Given the description of an element on the screen output the (x, y) to click on. 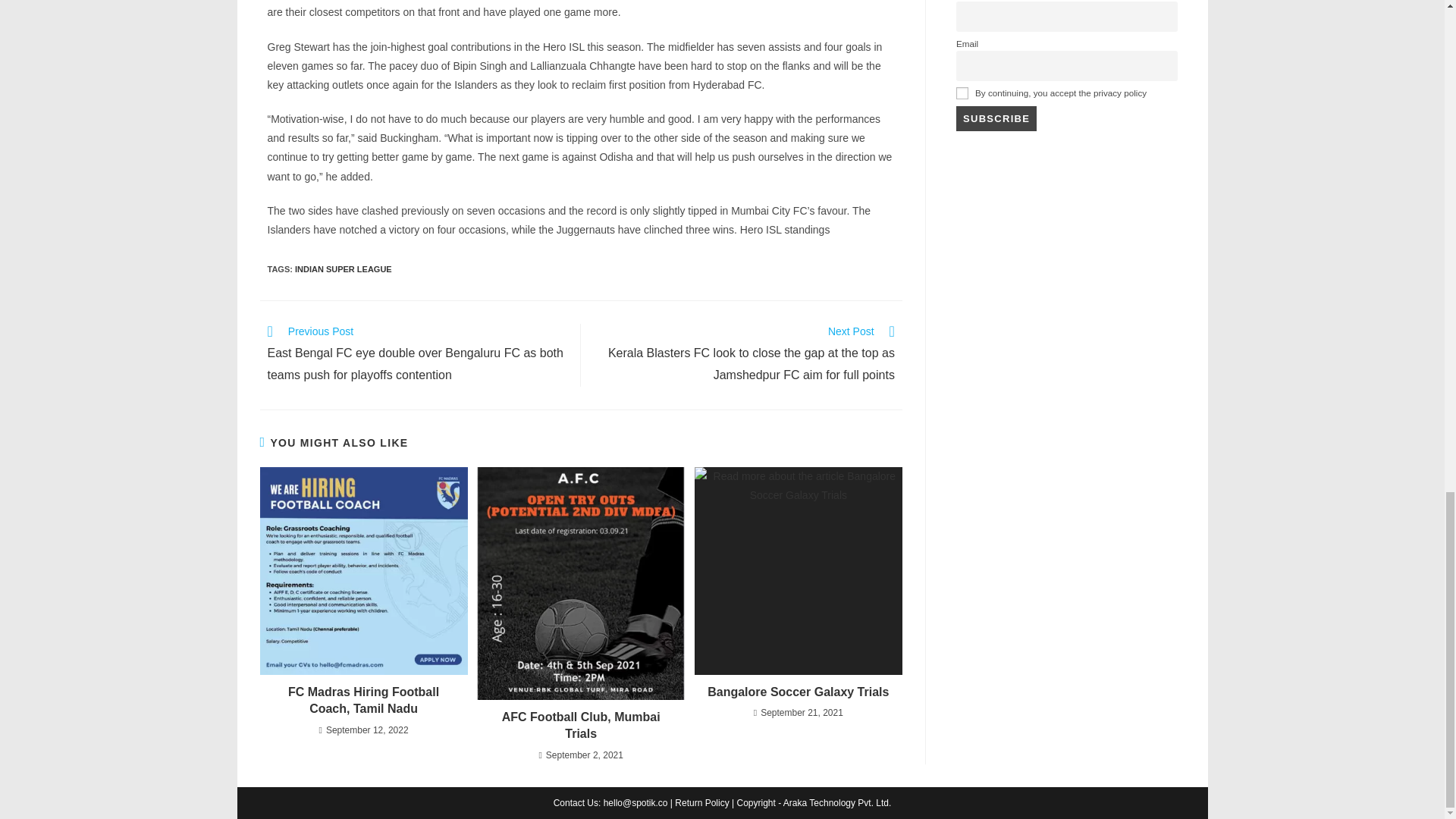
Subscribe (996, 118)
INDIAN SUPER LEAGUE (343, 268)
Bangalore Soccer Galaxy Trials (798, 692)
on (962, 92)
FC Madras Hiring Football Coach, Tamil Nadu (362, 700)
AFC Football Club, Mumbai Trials (580, 725)
